Given the description of an element on the screen output the (x, y) to click on. 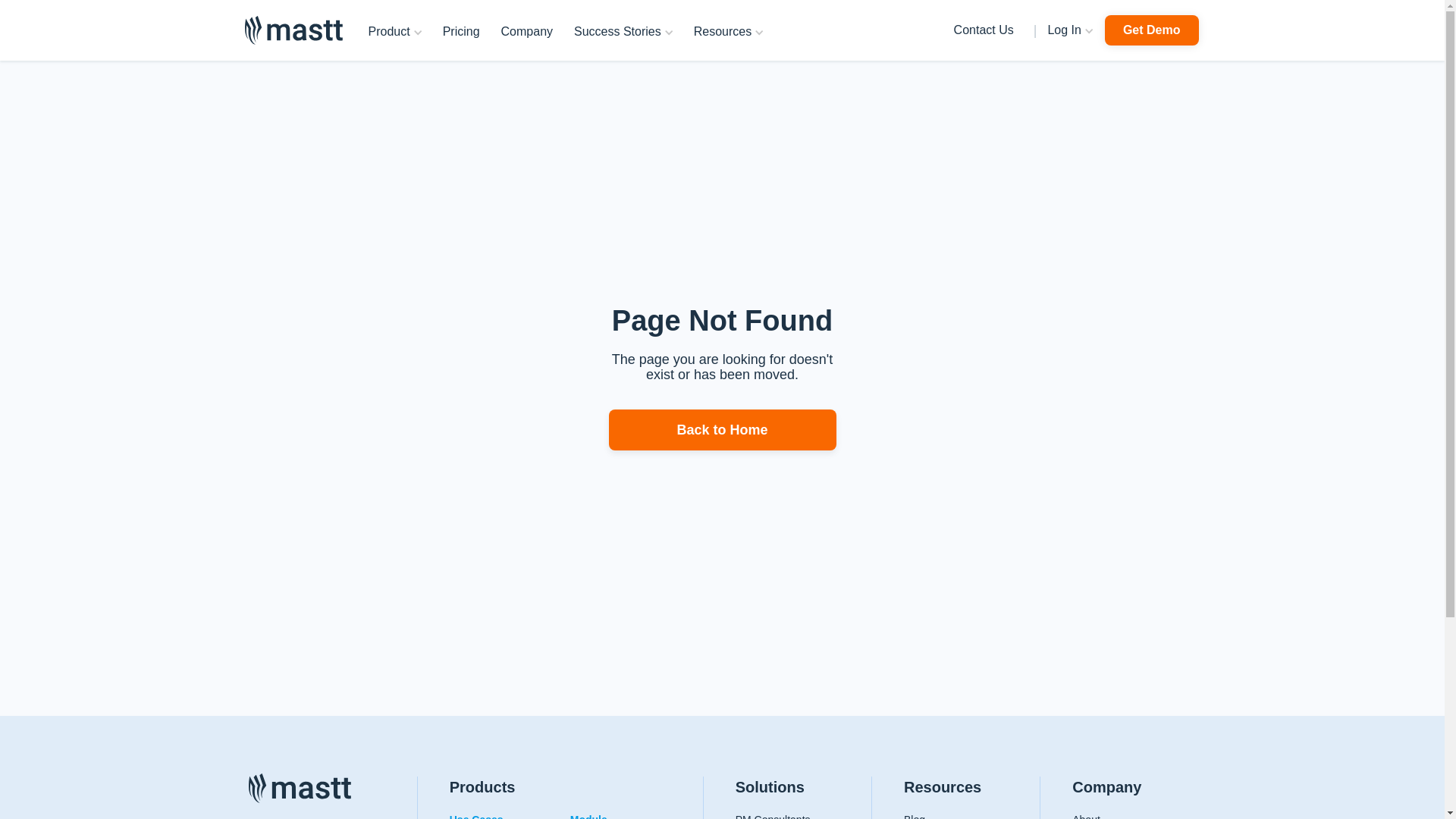
Contact Us Element type: text (983, 30)
Get Demo Element type: text (1151, 30)
Company Element type: text (526, 31)
Pricing Element type: text (461, 31)
Back to Home Element type: text (721, 430)
